Given the description of an element on the screen output the (x, y) to click on. 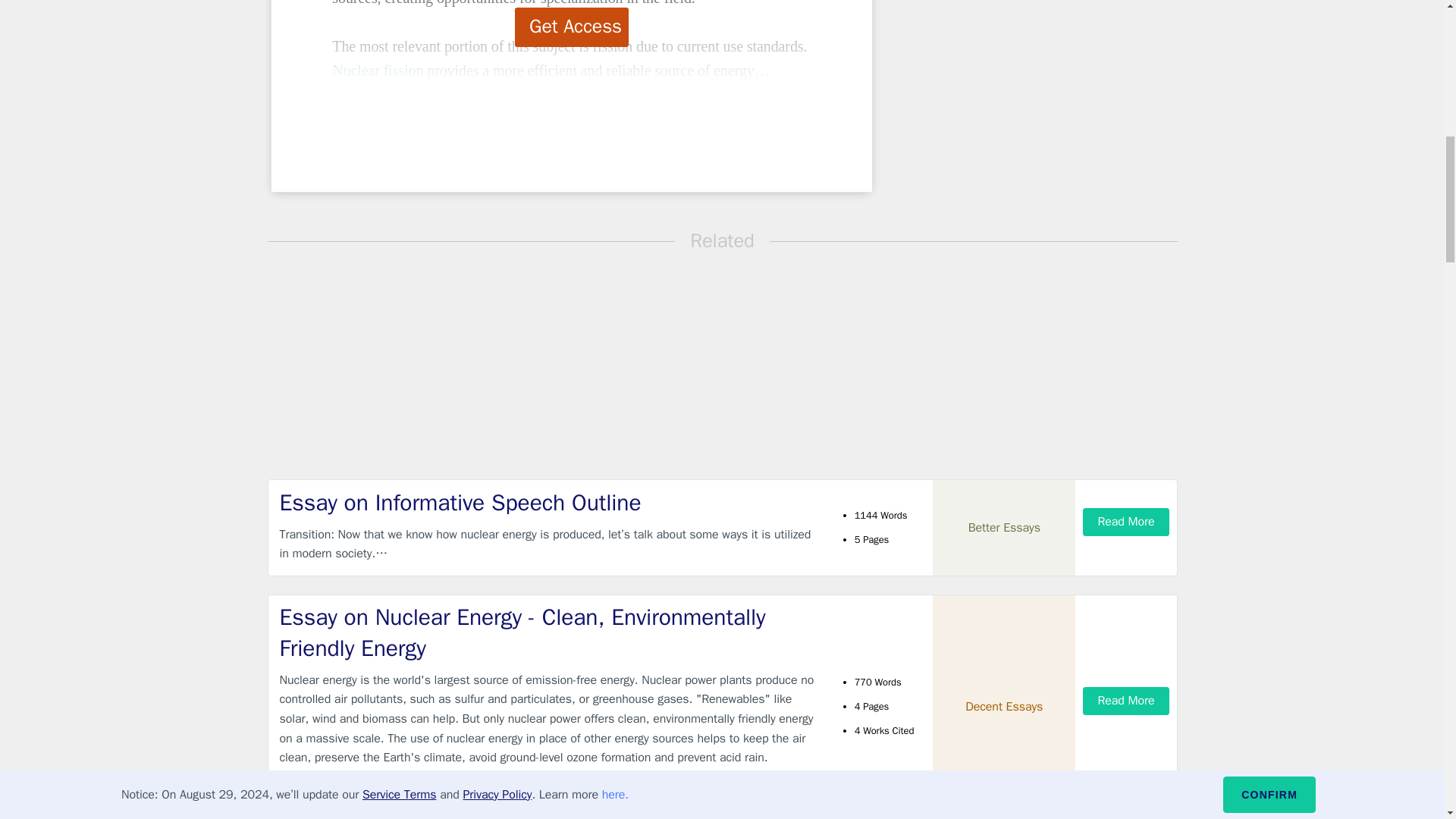
Essay on Informative Speech Outline (548, 502)
Read More (1126, 700)
Nuclear fission (377, 70)
Read More (1126, 521)
Get Access (571, 26)
